Given the description of an element on the screen output the (x, y) to click on. 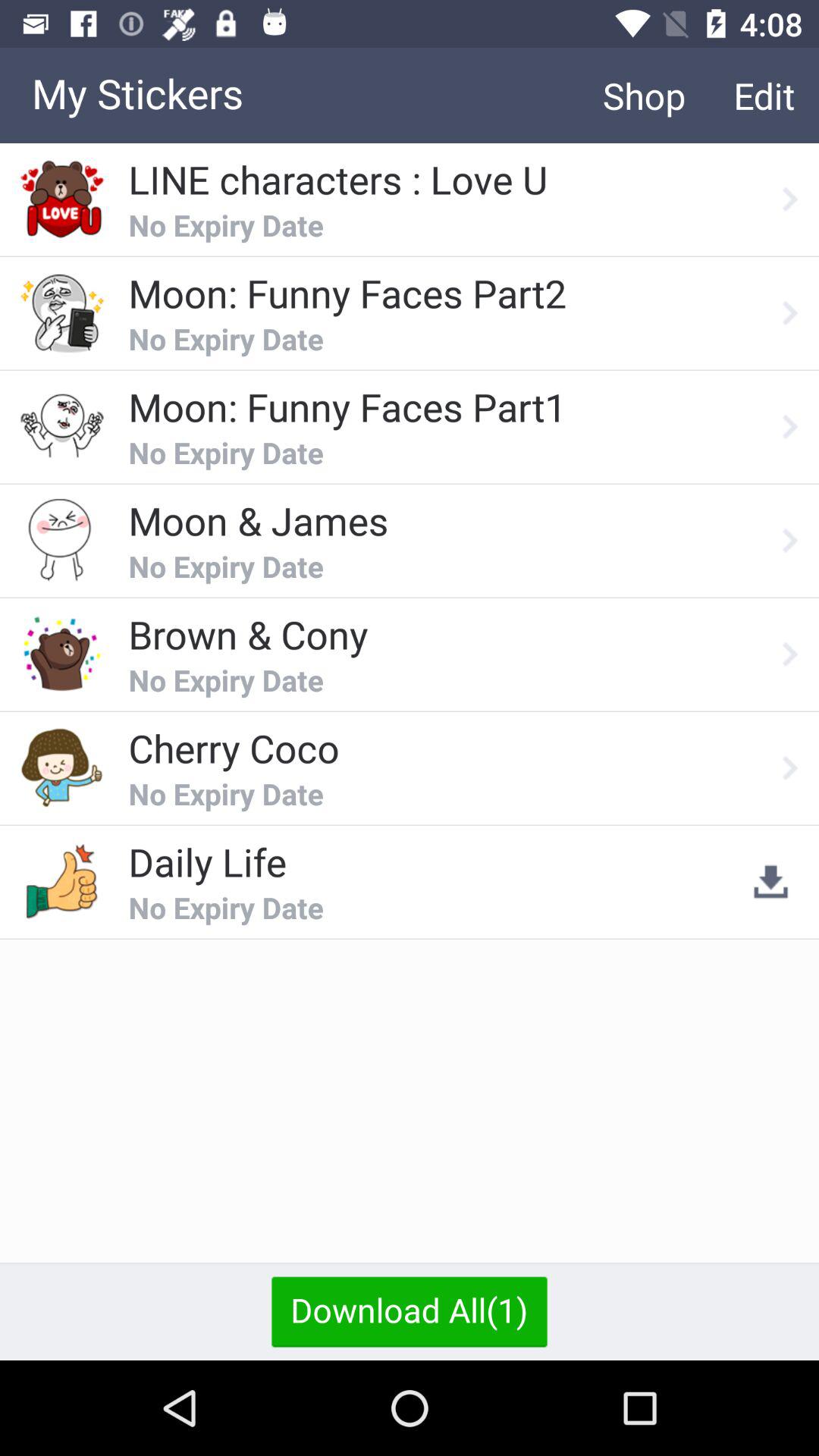
turn on the download all(1) icon (409, 1311)
